Given the description of an element on the screen output the (x, y) to click on. 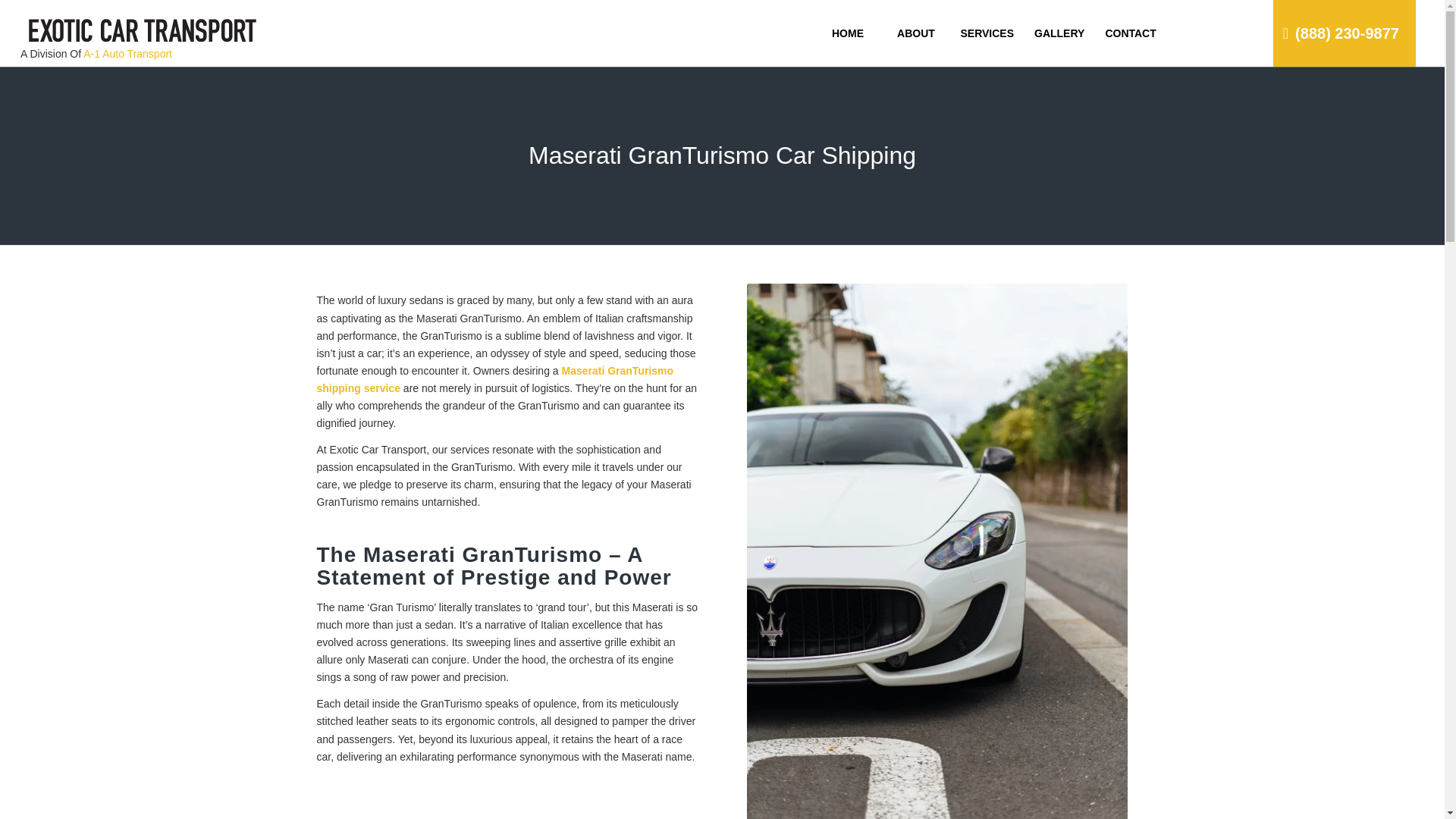
Permanent Link: Maserati GranTurismo Car Shipping (721, 154)
GALLERY (1058, 33)
ABOUT (914, 33)
GET A QUOTE (1272, 66)
A-1 Auto Transport (126, 53)
CONTACT (1130, 33)
Maserati GranTurismo shipping service (495, 378)
Maserati GranTurismo Car Shipping (721, 154)
logo-small (142, 33)
logo-small (142, 20)
HOME (846, 33)
SERVICES (986, 33)
